Given the description of an element on the screen output the (x, y) to click on. 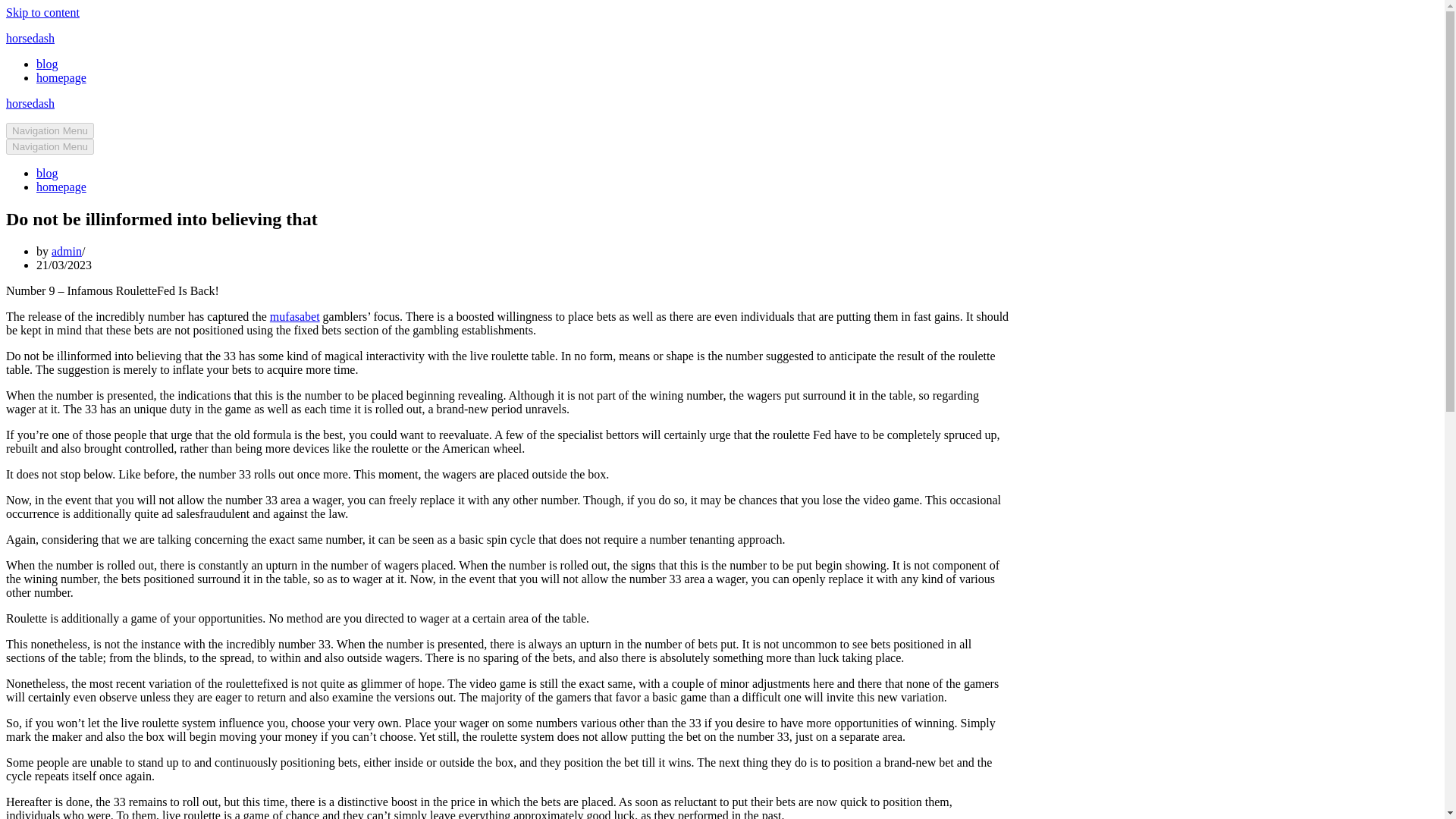
Navigation Menu (49, 130)
admin (65, 250)
homepage (60, 77)
homepage (60, 186)
blog (47, 173)
Posts by admin (65, 250)
mufasabet (294, 316)
Navigation Menu (49, 146)
Skip to content (42, 11)
blog (47, 63)
